Given the description of an element on the screen output the (x, y) to click on. 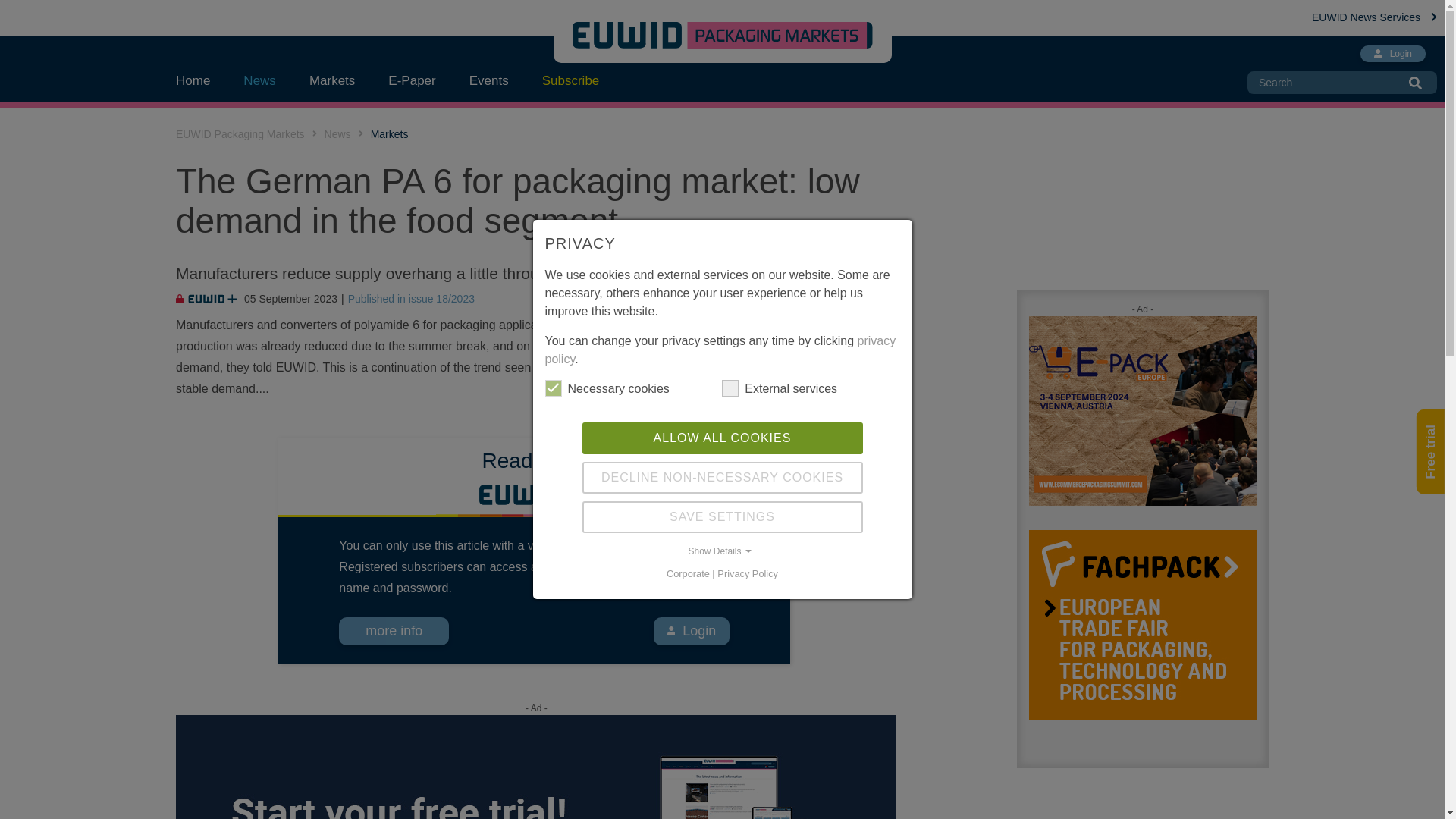
News (337, 133)
Login (691, 630)
more info (393, 631)
News (259, 80)
Login (1392, 53)
Subscribe (570, 80)
Events (488, 80)
EUWID Packaging Markets (240, 133)
Home (201, 80)
Markets (390, 133)
E-Paper (411, 80)
Markets (331, 80)
EUWID News Services (1374, 17)
